Given the description of an element on the screen output the (x, y) to click on. 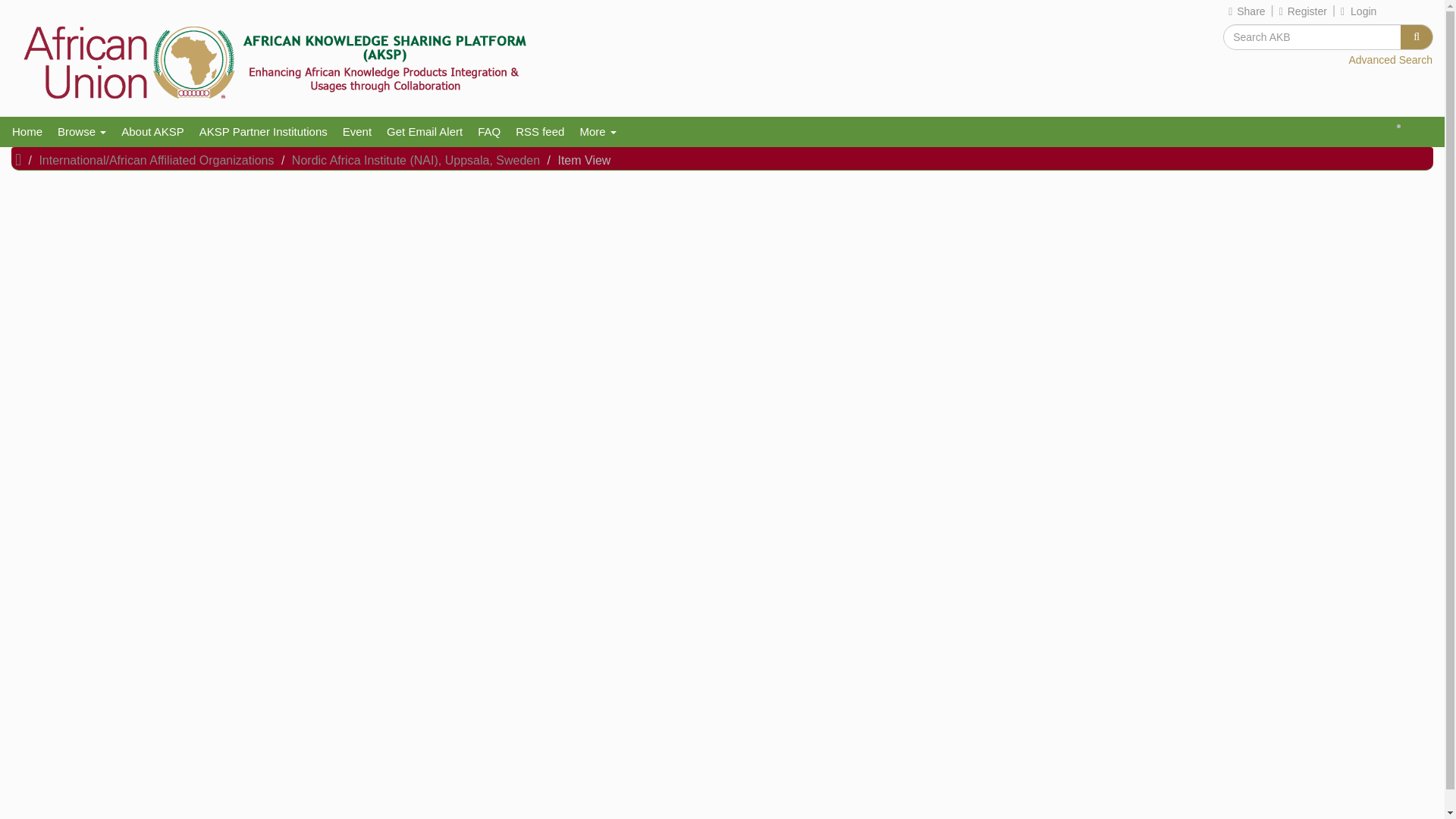
RSS feed (540, 131)
Advanced Search (1390, 60)
Event (356, 131)
Home (26, 131)
Login (1358, 11)
Browse (81, 131)
More (597, 131)
FAQ (489, 131)
About AKSP (152, 131)
Share (1246, 10)
